Given the description of an element on the screen output the (x, y) to click on. 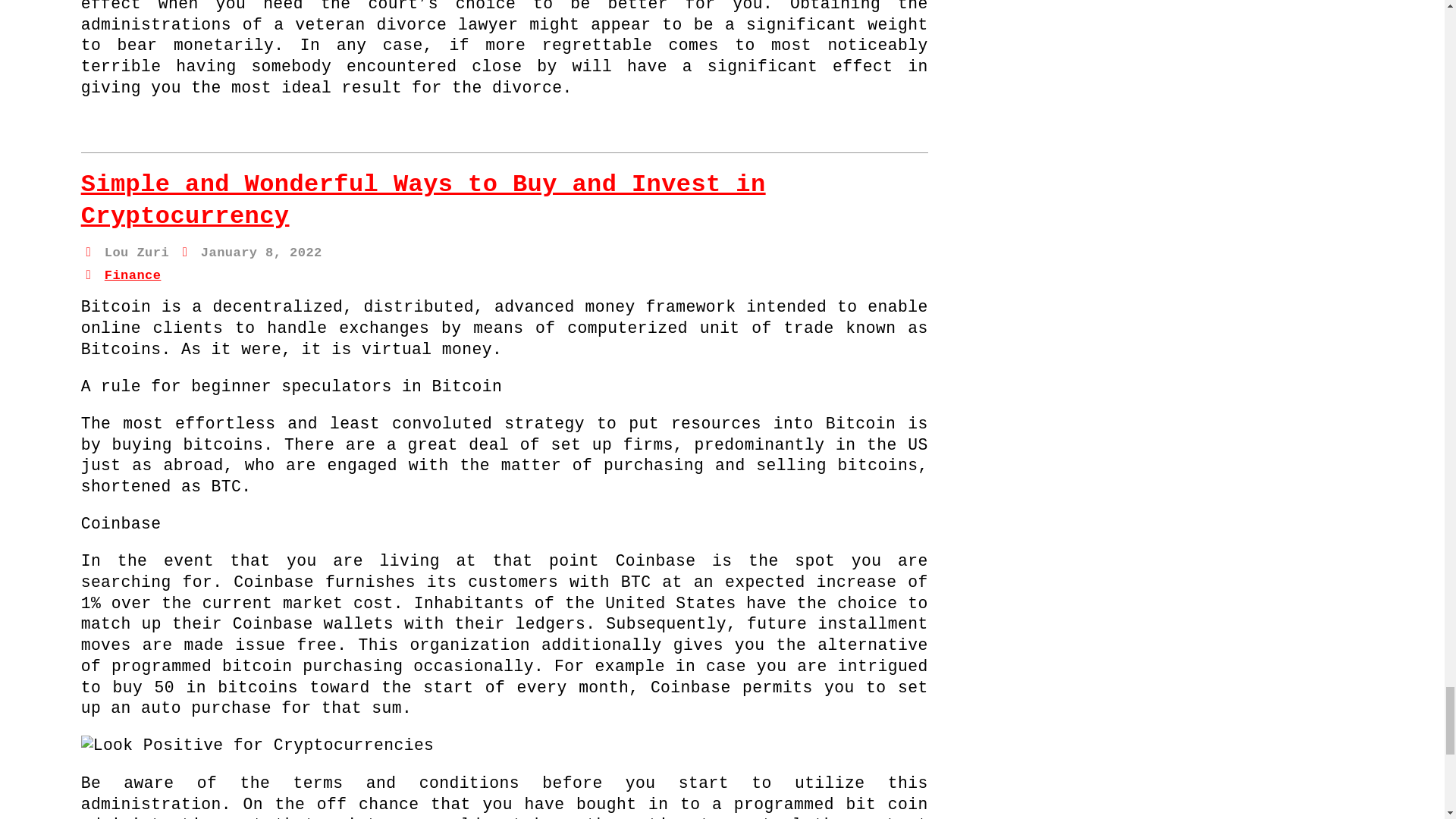
View all in Finance (132, 275)
Finance (132, 275)
